Given the description of an element on the screen output the (x, y) to click on. 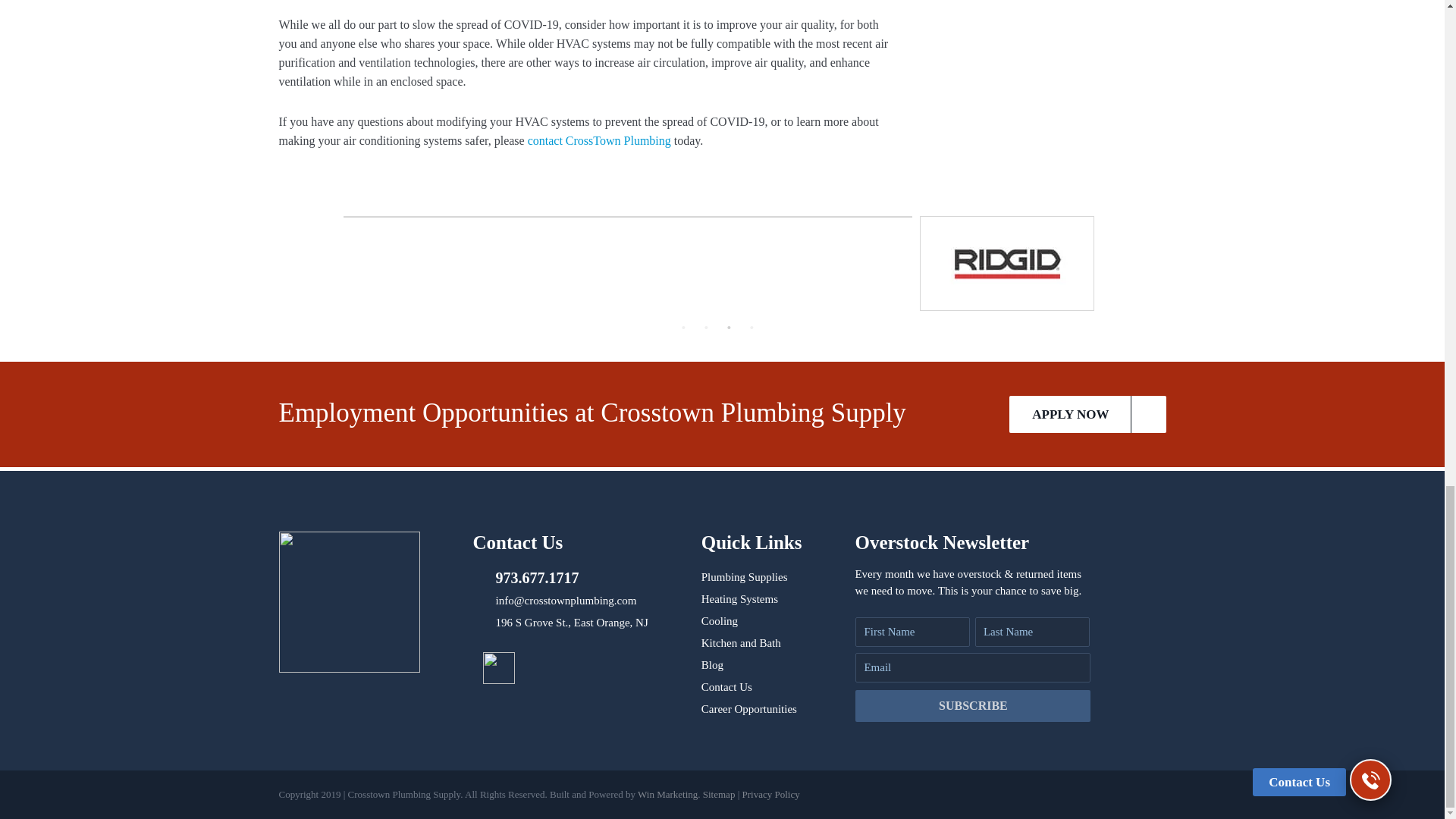
Subscribe (973, 705)
